Given the description of an element on the screen output the (x, y) to click on. 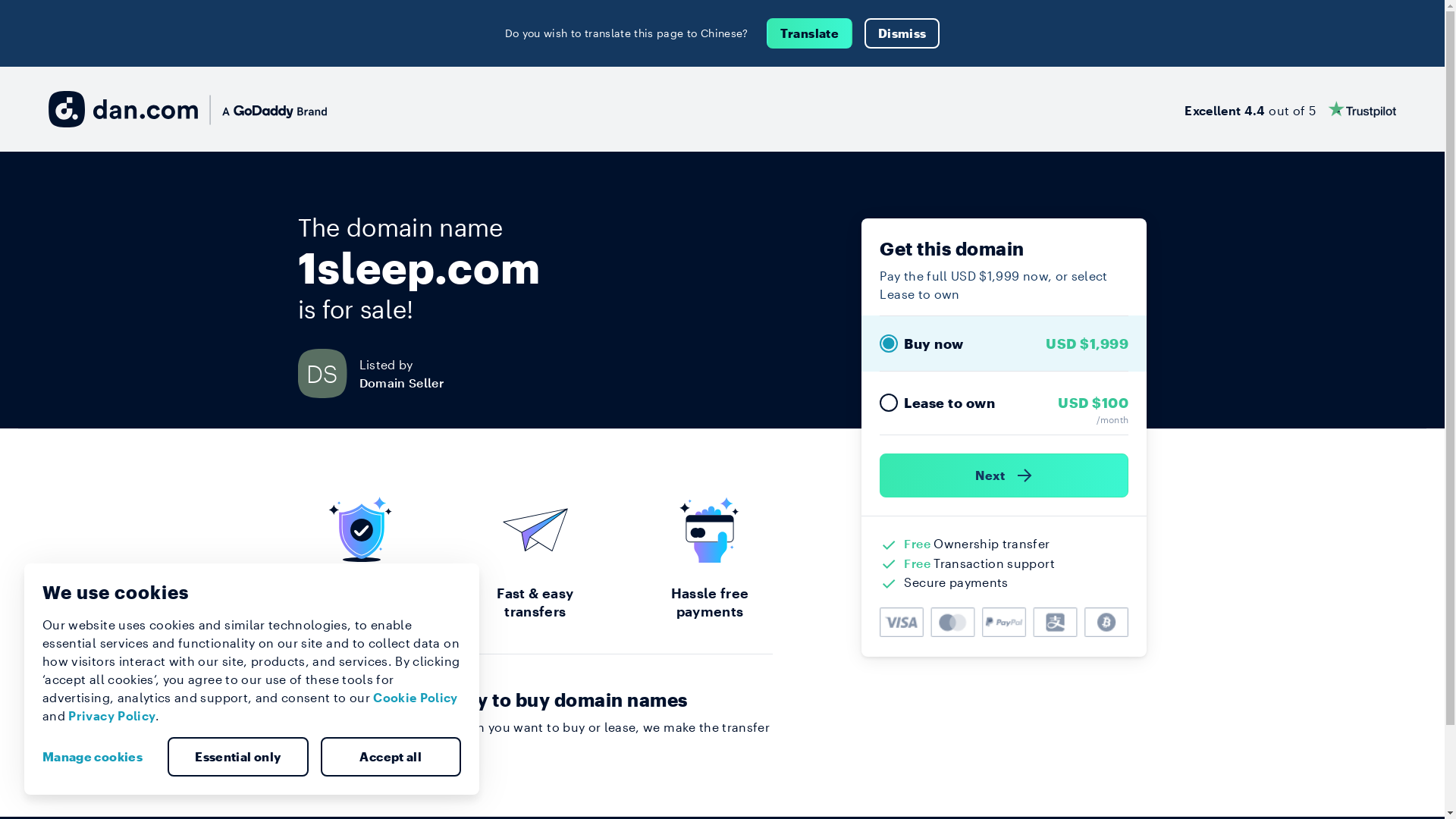
Excellent 4.4 out of 5 Element type: text (1290, 109)
Cookie Policy Element type: text (415, 697)
Dismiss Element type: text (901, 33)
Manage cookies Element type: text (98, 756)
Privacy Policy Element type: text (111, 715)
Next
) Element type: text (1003, 475)
Translate Element type: text (809, 33)
Essential only Element type: text (237, 756)
Accept all Element type: text (390, 756)
